Given the description of an element on the screen output the (x, y) to click on. 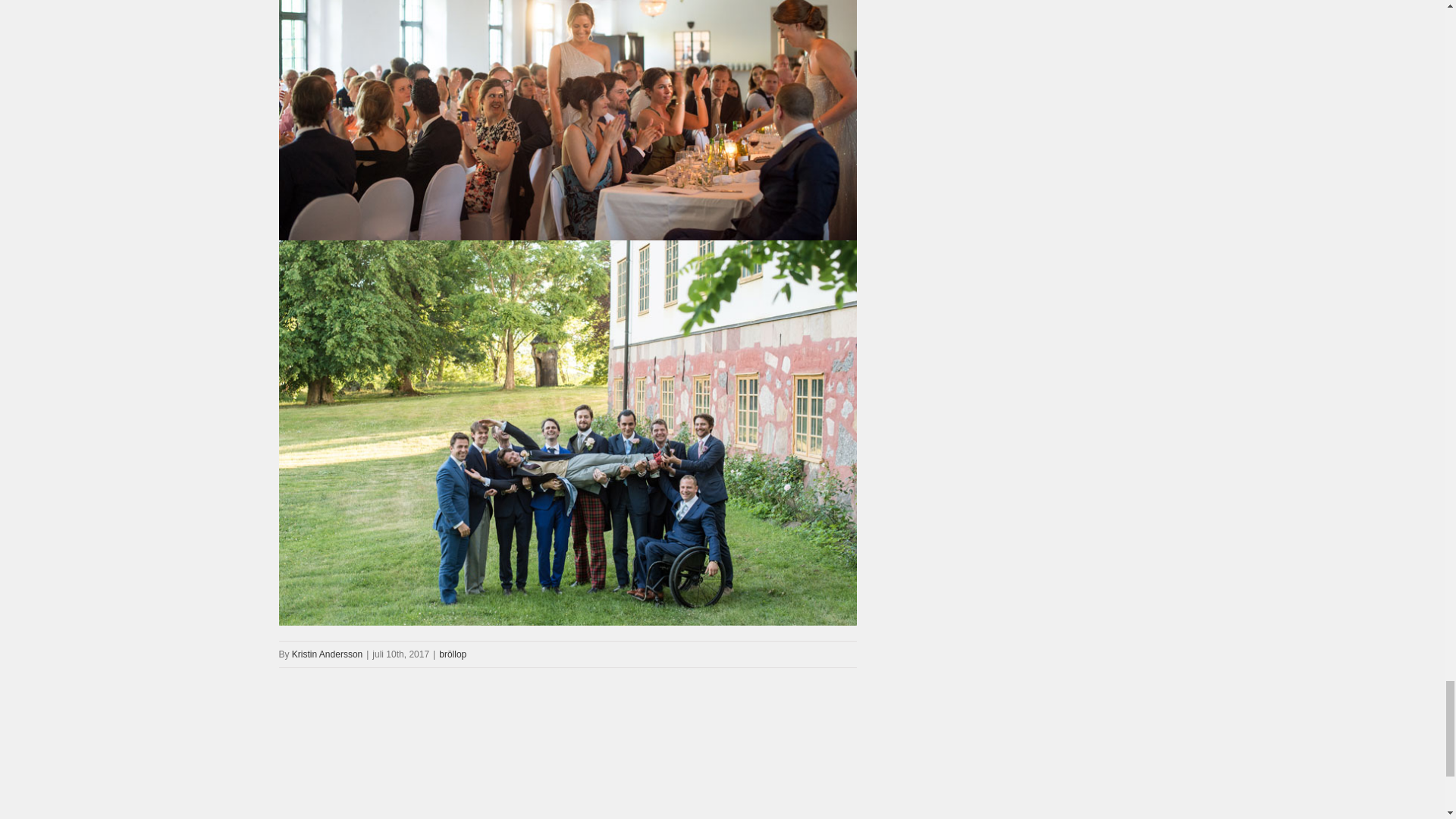
Kristin Andersson (327, 654)
